Given the description of an element on the screen output the (x, y) to click on. 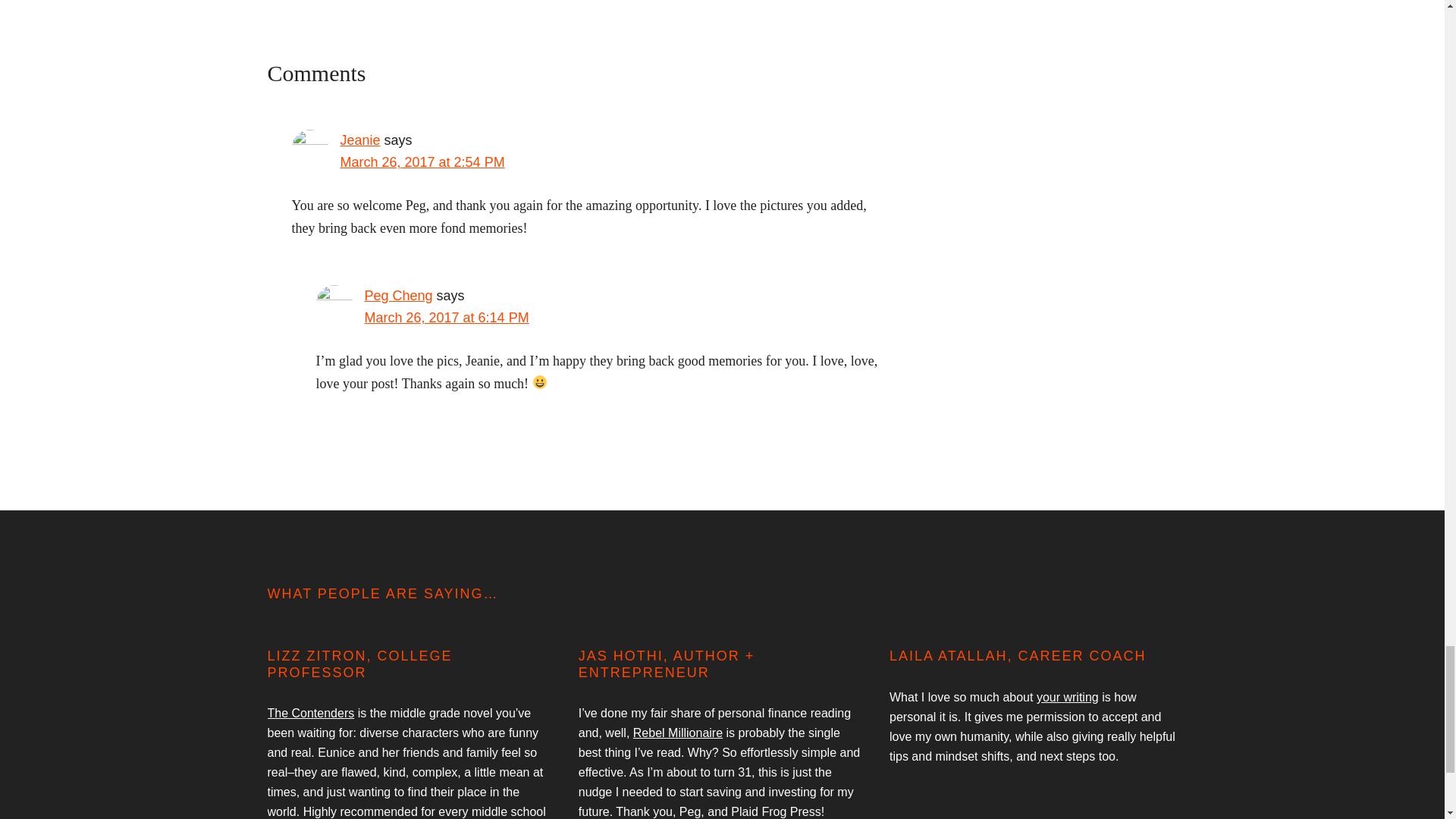
Peg Cheng (398, 295)
March 26, 2017 at 2:54 PM (421, 161)
March 26, 2017 at 6:14 PM (446, 317)
Jeanie (359, 140)
